Given the description of an element on the screen output the (x, y) to click on. 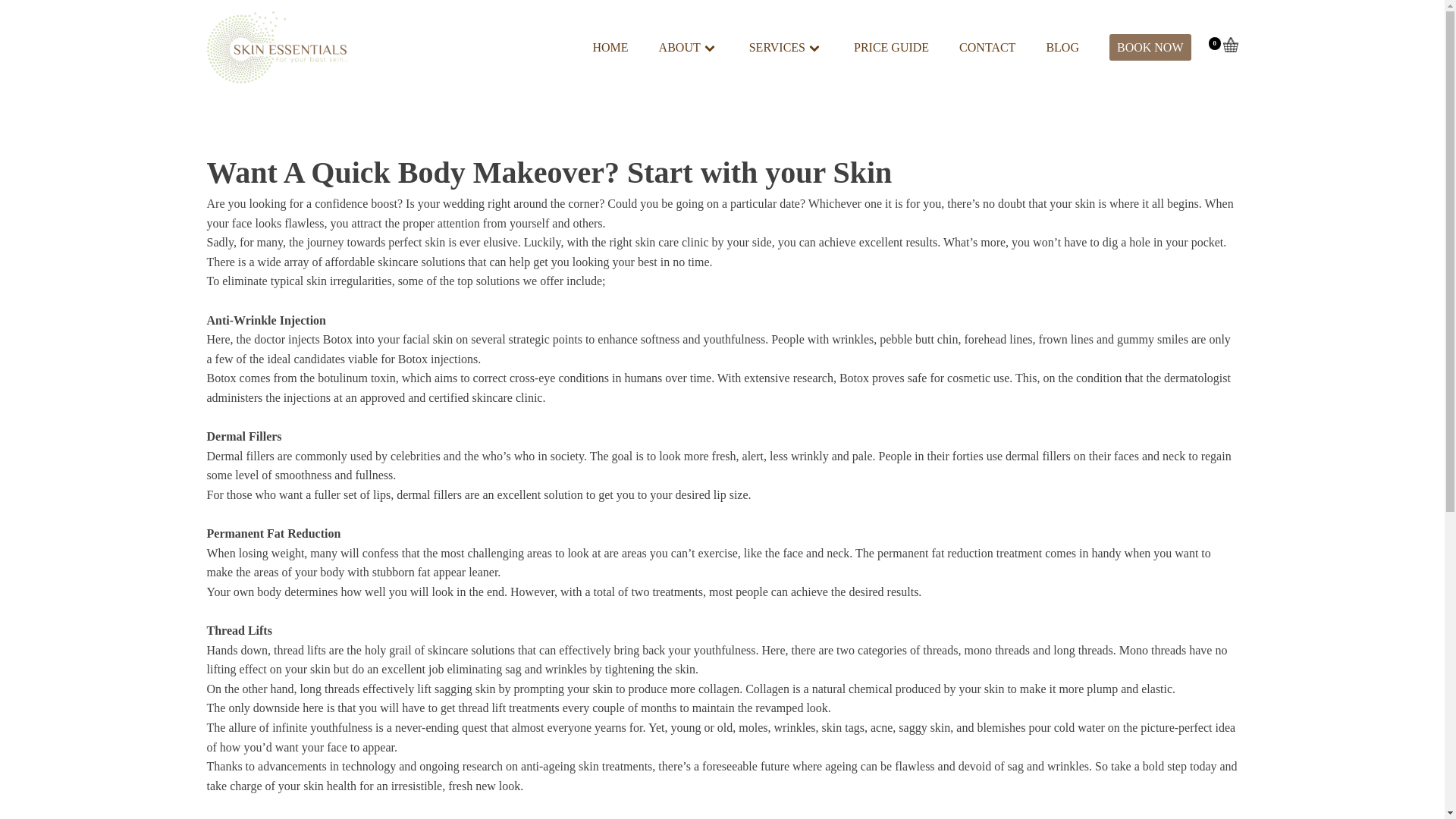
CONTACT (986, 47)
BLOG (1062, 47)
HOME (609, 47)
SERVICES (785, 47)
PRICE GUIDE (890, 47)
0 (1230, 48)
ABOUT (688, 47)
BOOK NOW (1150, 47)
